Given the description of an element on the screen output the (x, y) to click on. 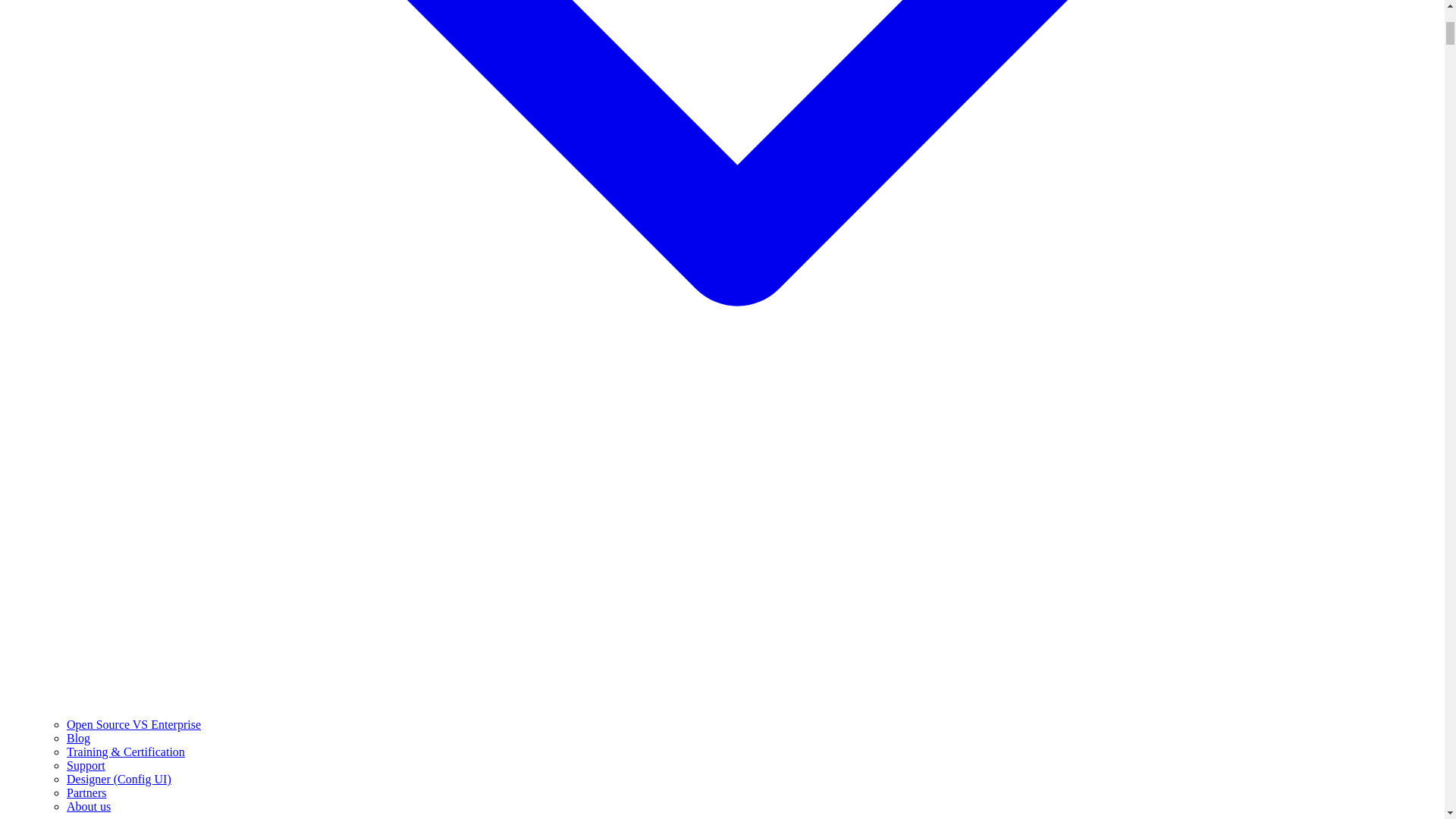
Support (85, 765)
About us (88, 806)
Open Source VS Enterprise (133, 724)
Partners (86, 792)
Blog (78, 738)
